Given the description of an element on the screen output the (x, y) to click on. 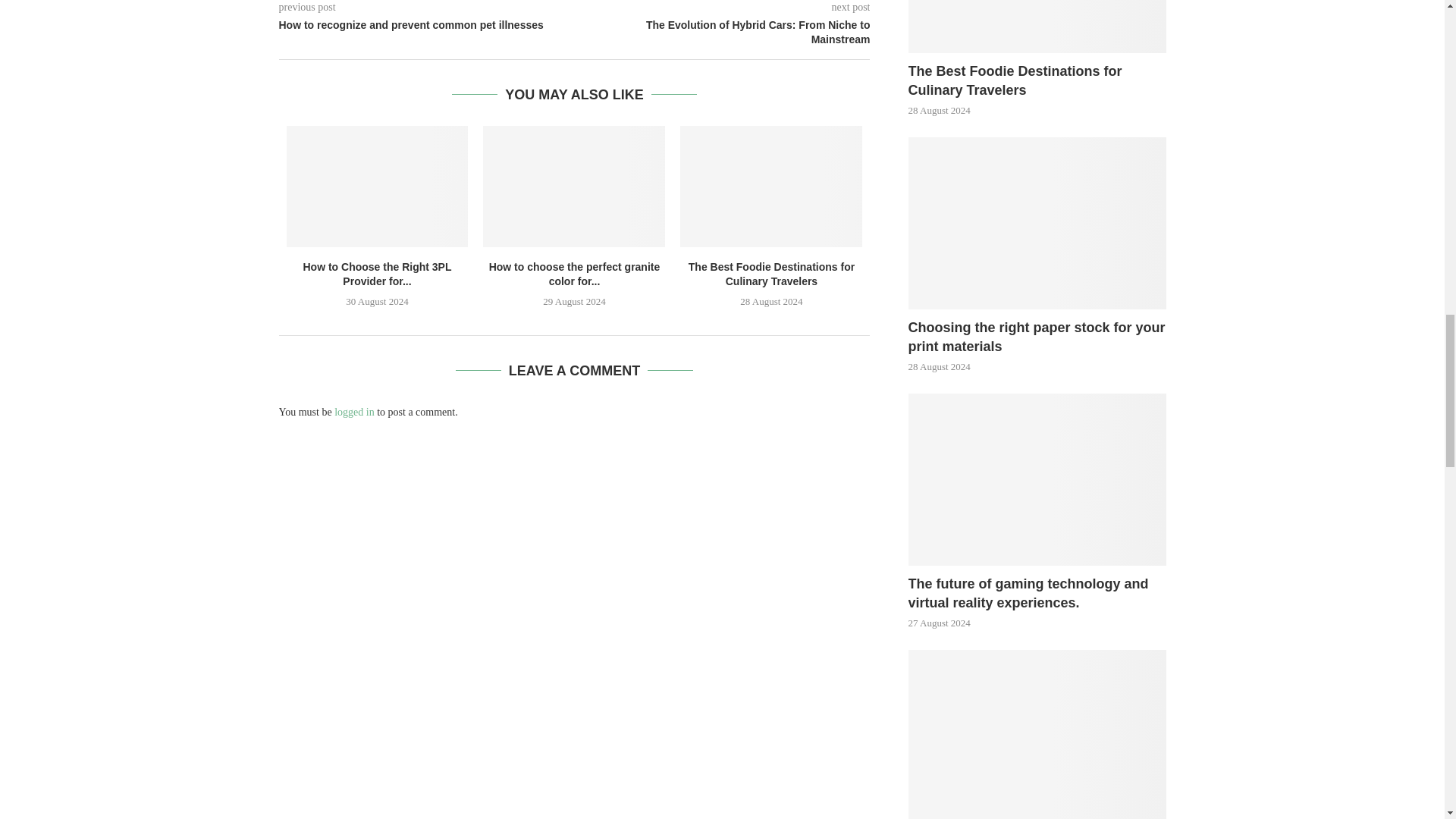
How to Choose the Right 3PL Provider for Your Business (377, 186)
The Best Foodie Destinations for Culinary Travelers (770, 186)
